Given the description of an element on the screen output the (x, y) to click on. 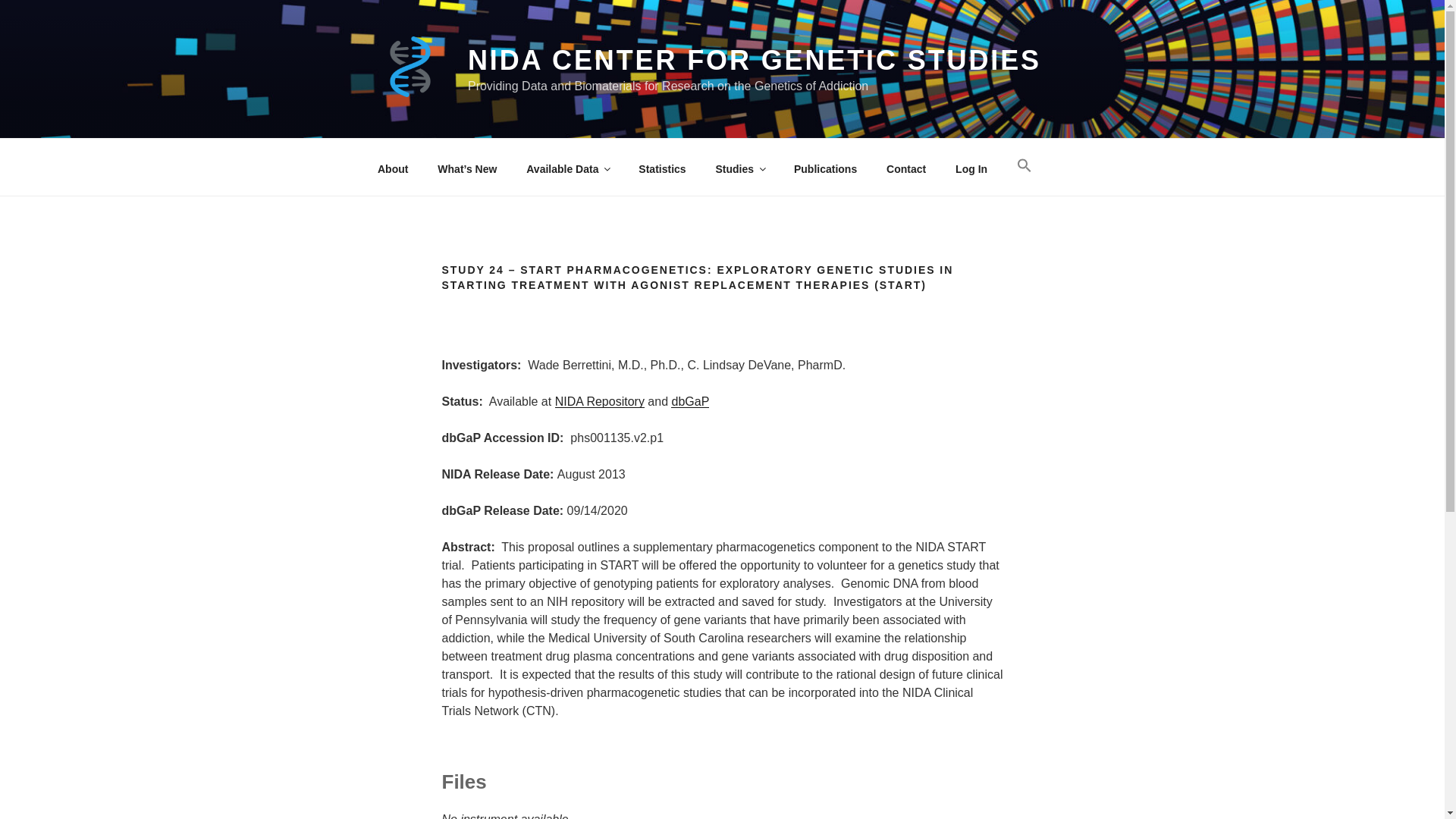
Statistics (662, 168)
Available Data (568, 168)
About (392, 168)
dbGaP (690, 400)
Publications (824, 168)
NIDA CENTER FOR GENETIC STUDIES (754, 60)
Log In (971, 168)
Studies (739, 168)
Contact (906, 168)
NIDA Repository (599, 400)
